Given the description of an element on the screen output the (x, y) to click on. 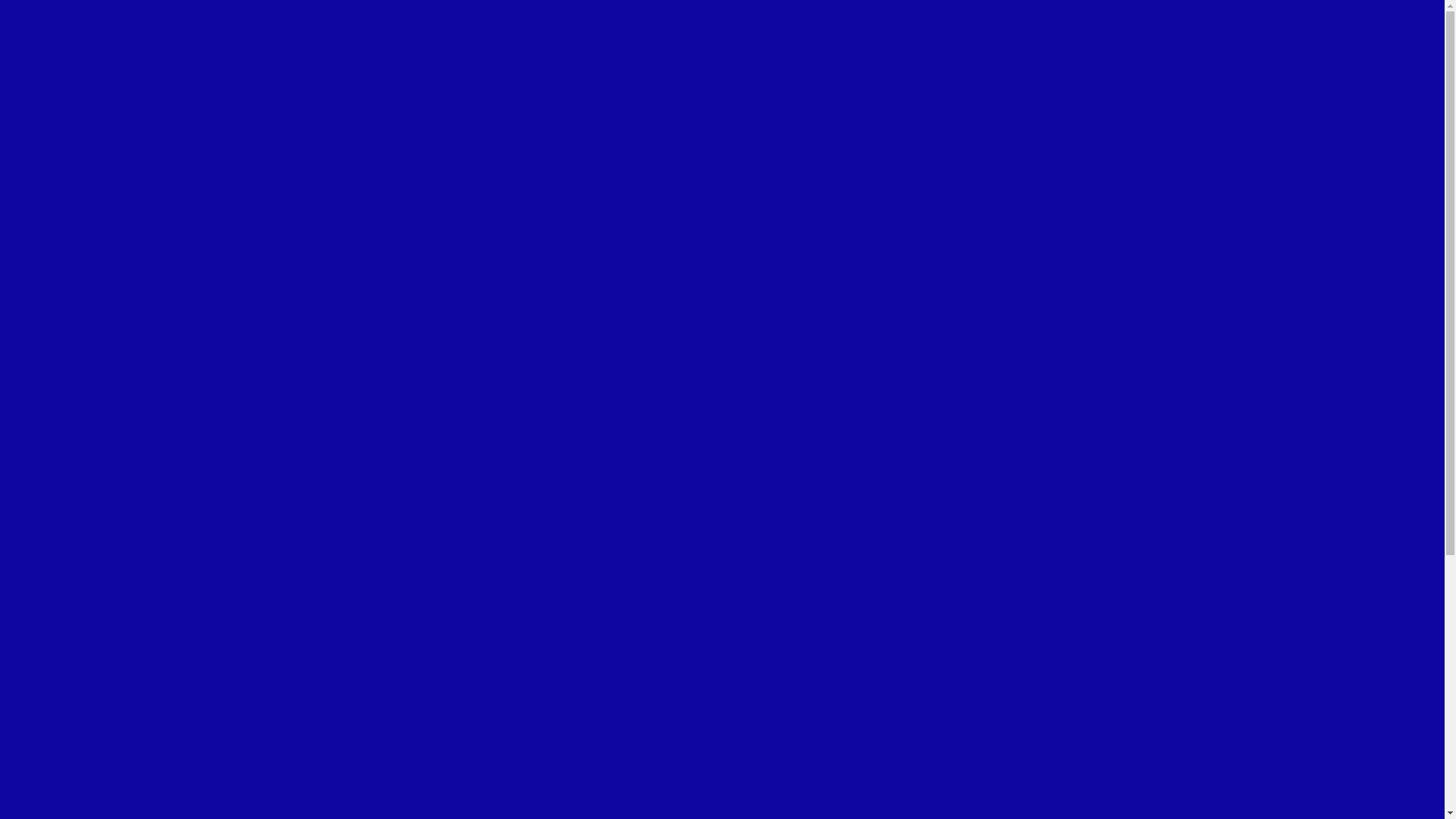
Vorstand Element type: text (118, 645)
Login Element type: text (22, 235)
Vorstand Element type: text (87, 631)
Vereinskalender Element type: text (75, 754)
Event-History Element type: text (70, 140)
Sponsoren Element type: text (122, 699)
News Element type: text (49, 740)
Sponsoren Element type: text (92, 86)
Willkommen Element type: text (68, 18)
Mitgliedschaft Element type: text (71, 781)
Sponsoren Element type: text (92, 686)
Willkommen Element type: text (68, 590)
News Element type: text (49, 113)
Mitgliedschaft Element type: text (71, 154)
Partnerschaft mit Concordia Element type: text (134, 195)
Statuten Element type: text (116, 672)
Kontakt Element type: text (55, 209)
Vereinskalender Element type: text (75, 127)
Vorstand Element type: text (87, 59)
Statuten Element type: text (86, 658)
Event-History Element type: text (70, 768)
Statuten Element type: text (86, 72)
